Given the description of an element on the screen output the (x, y) to click on. 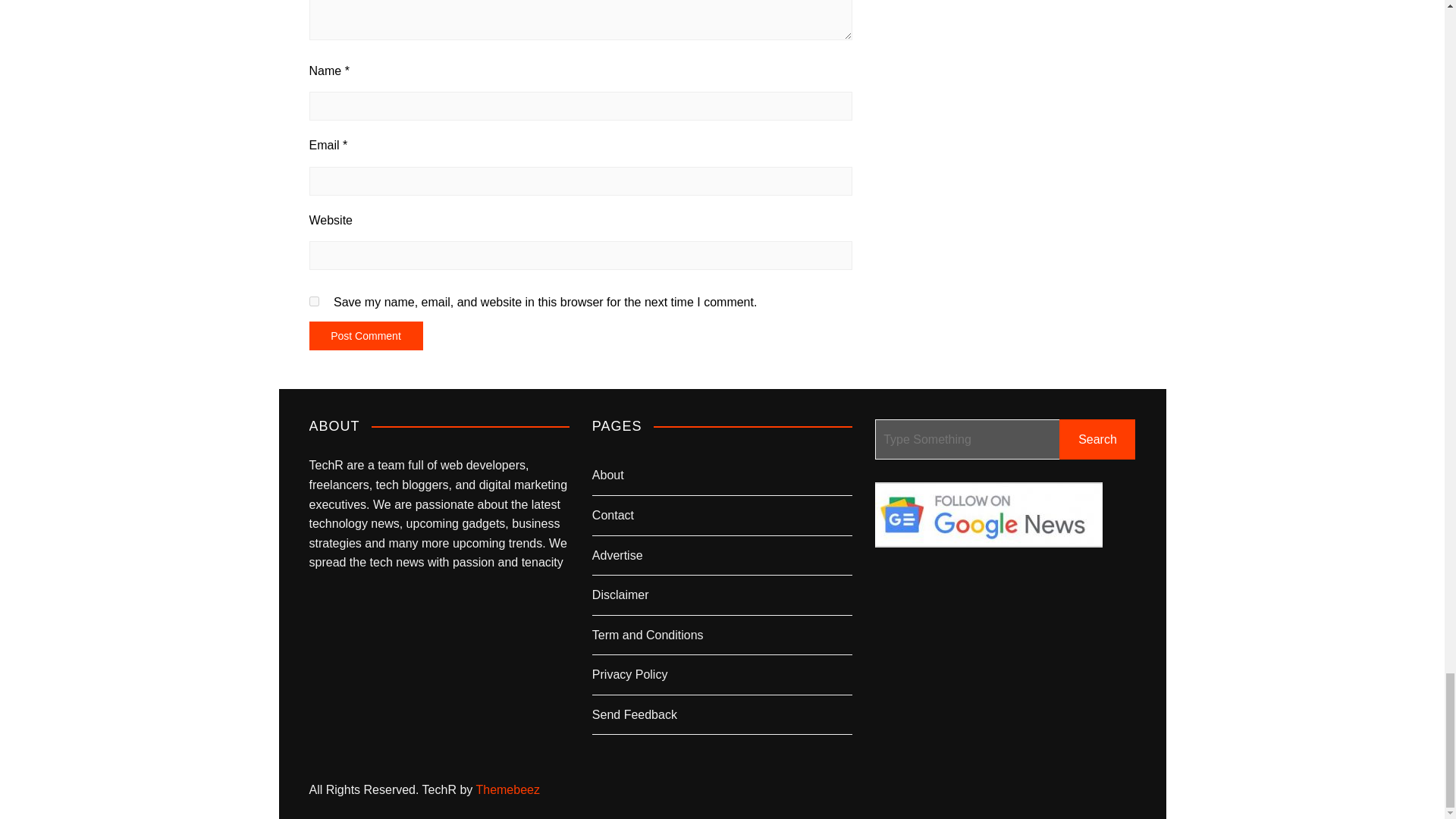
Post Comment (365, 335)
Search (1097, 439)
yes (313, 301)
